Given the description of an element on the screen output the (x, y) to click on. 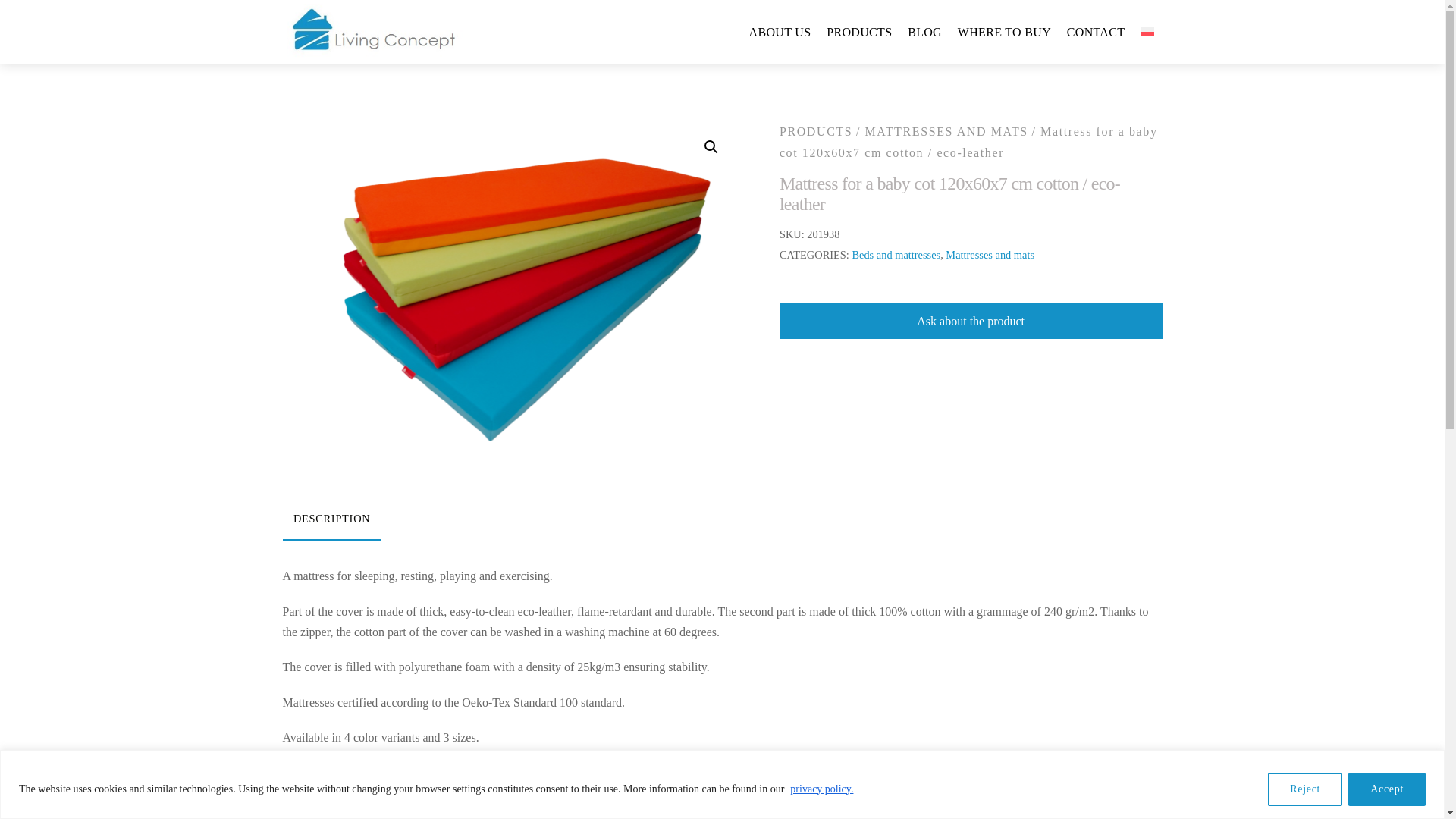
WHERE TO BUY (1003, 28)
Reject (1305, 788)
Send (724, 426)
PRODUCTS (859, 28)
Mattresses and mats (988, 254)
Accept (1386, 788)
Living Concept (383, 29)
DESCRIPTION (331, 519)
privacy policy. (821, 788)
CONTACT (1095, 28)
Beds and mattresses (895, 254)
PRODUCTS (814, 131)
livingconcept-logo (383, 32)
ABOUT US (779, 28)
MATTRESSES AND MATS (945, 131)
